Given the description of an element on the screen output the (x, y) to click on. 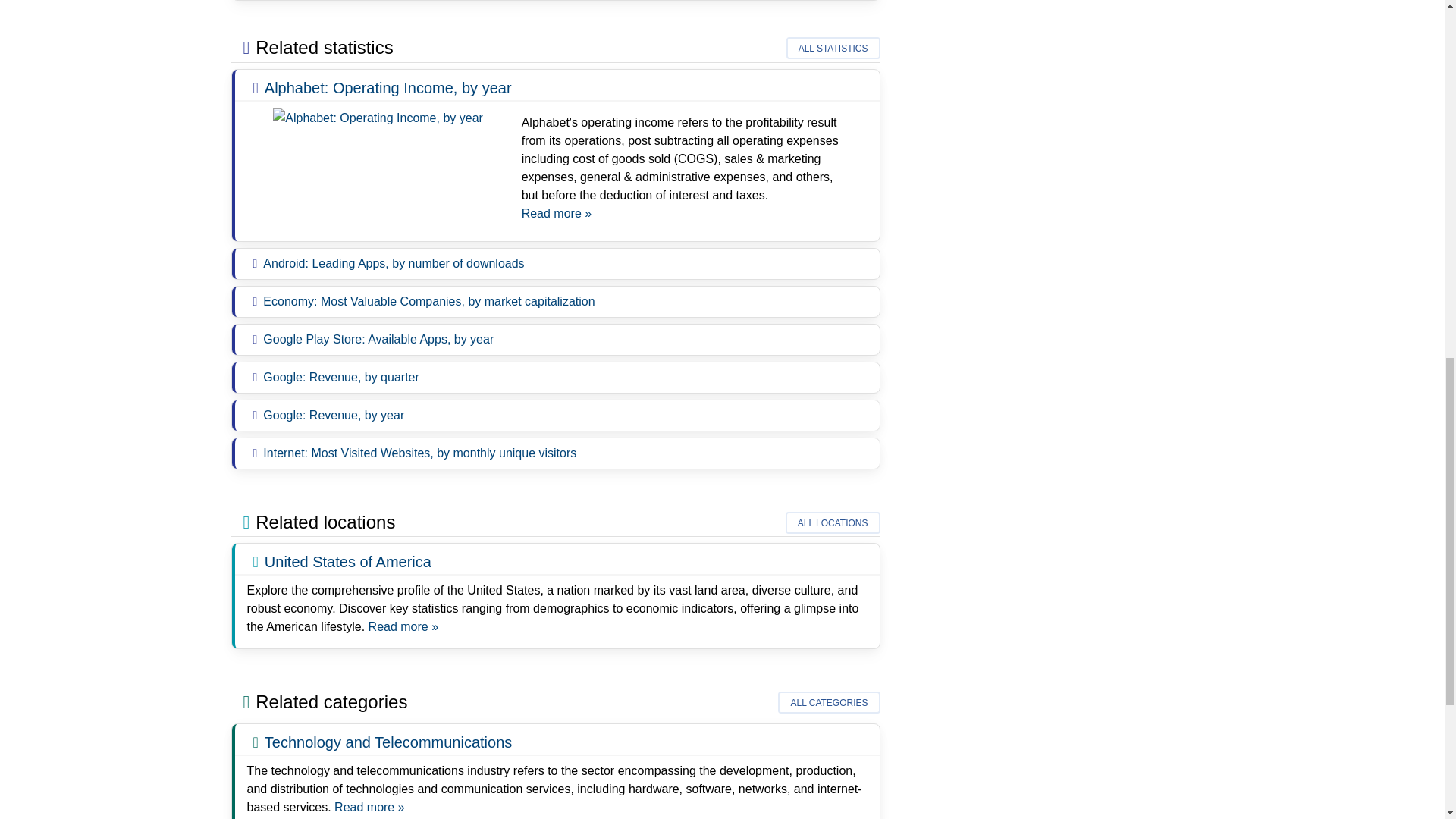
Internet: Most Visited Websites, by monthly unique visitors (419, 452)
Alphabet: Operating Income, by year (388, 87)
ALL LOCATIONS (833, 522)
Google Play Store: Available Apps, by year (378, 338)
Technology and Telecommunications (388, 742)
Alphabet: Operating Income, by year (378, 116)
Google: Revenue by Quarter (341, 377)
Technology and Telecommunications (369, 807)
ALL STATISTICS (833, 47)
United States of America (347, 561)
Technology and Telecommunications (388, 742)
United States of America (347, 561)
Alphabet: Operating Income, by year (378, 117)
Google's Revenue (333, 414)
Most Visited Websites Ranked by Monthly Unique Visitors (419, 452)
